Given the description of an element on the screen output the (x, y) to click on. 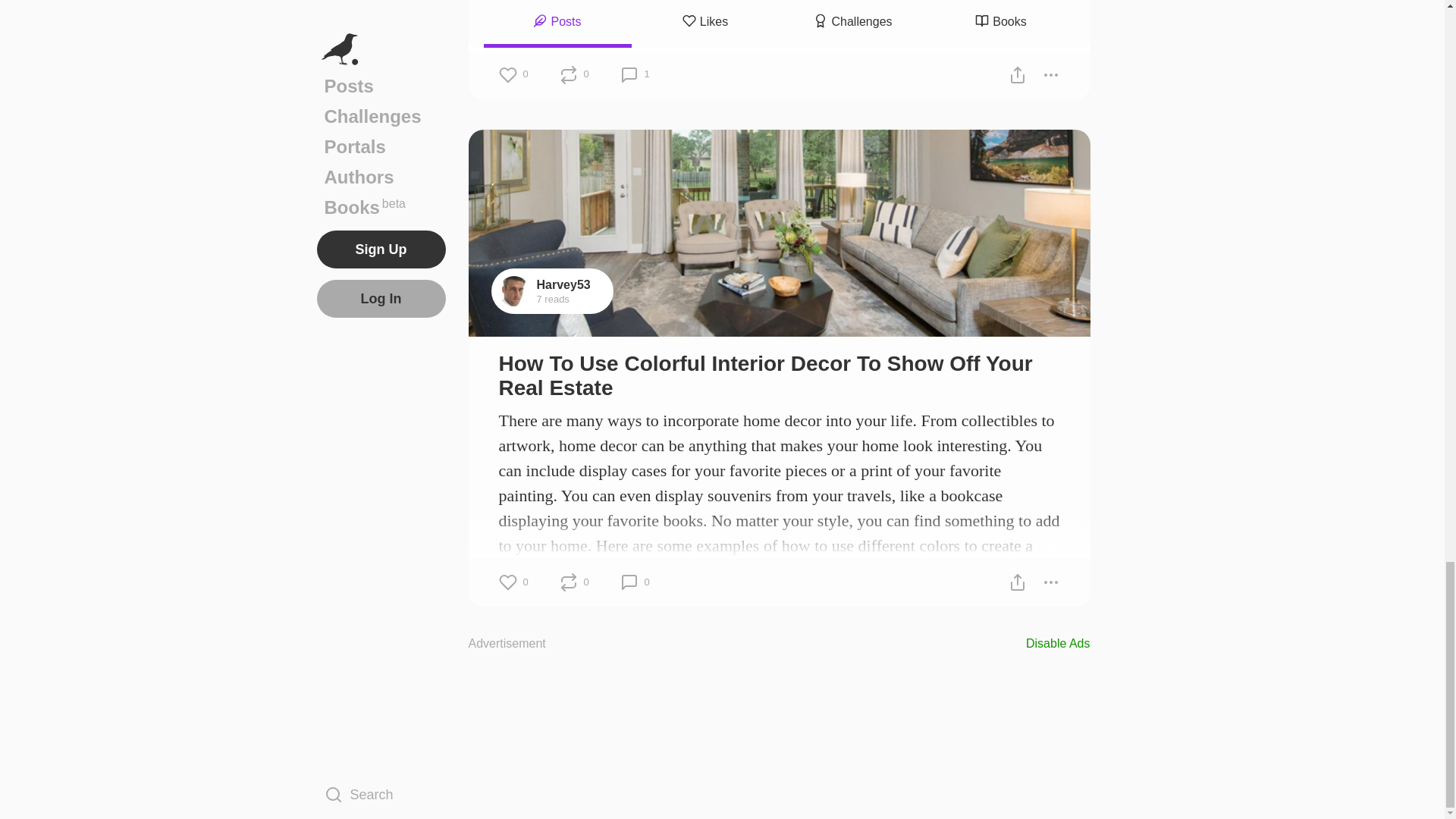
Harvey53 (564, 284)
Disable Ads (1058, 643)
